Given the description of an element on the screen output the (x, y) to click on. 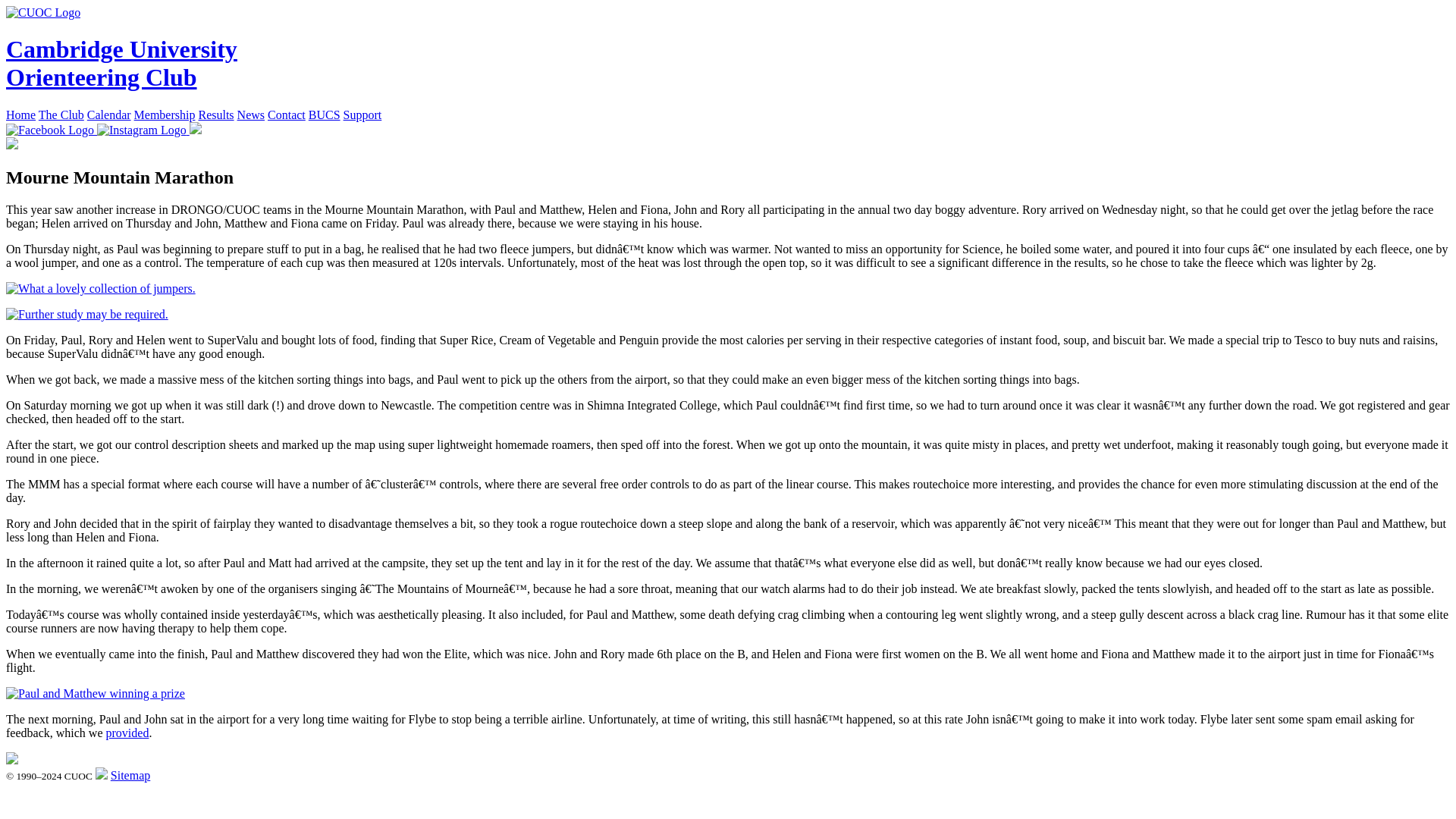
provided (127, 732)
Paul and Matthew winning a prize (94, 694)
Results (215, 114)
Calendar (109, 114)
The Club (61, 114)
CUOC Instagram (143, 129)
Contact (286, 114)
Support (362, 114)
CUOC Logo (42, 12)
What a lovely collection of jumpers. (100, 288)
